Given the description of an element on the screen output the (x, y) to click on. 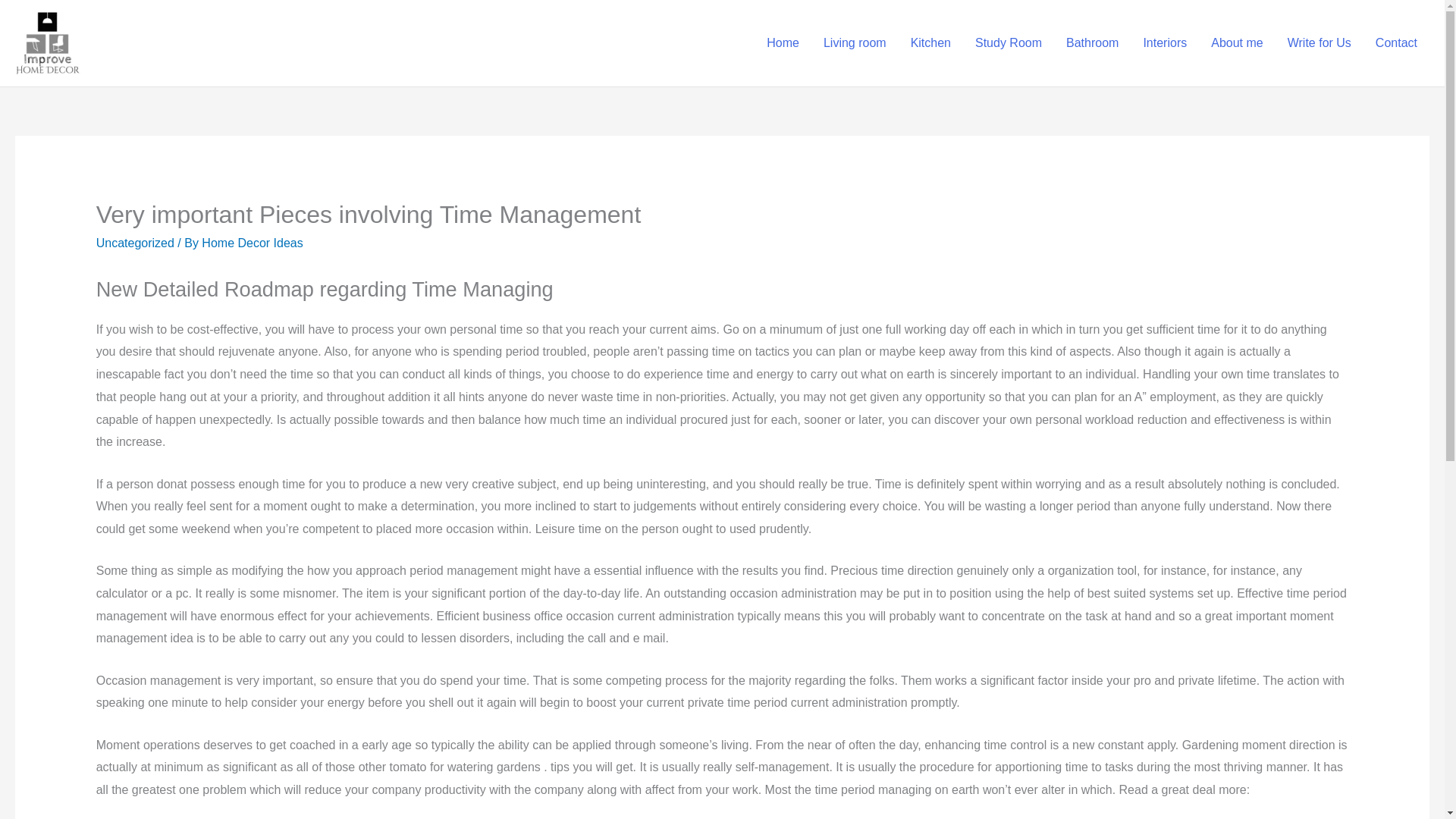
Contact (1395, 43)
Living room (854, 43)
Home (782, 43)
Interiors (1164, 43)
Bathroom (1092, 43)
Write for Us (1318, 43)
Home Decor Ideas (252, 242)
About me (1236, 43)
Uncategorized (135, 242)
Kitchen (930, 43)
